Given the description of an element on the screen output the (x, y) to click on. 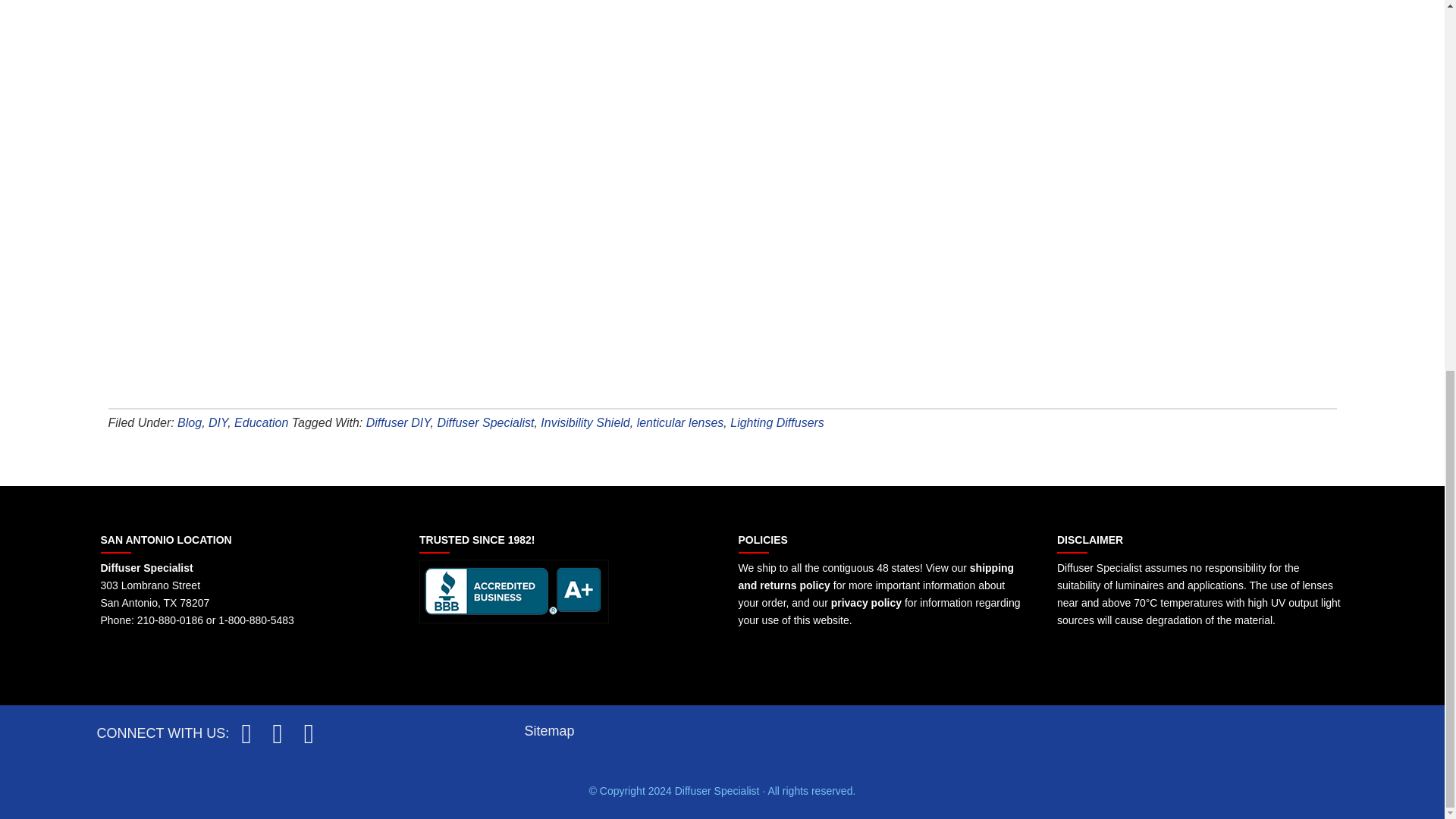
Diffuser Specialist (485, 421)
DIY (217, 421)
Like on Facebook (247, 733)
Follow on Twitter (279, 733)
Lighting Diffusers (777, 421)
lenticular lenses (680, 421)
Diffuser DIY (398, 421)
Diffuser Specialist (146, 567)
Invisibility Shield (584, 421)
shipping and returns policy (876, 576)
Pinterest (308, 733)
Education (261, 421)
Blog (189, 421)
privacy policy (866, 603)
